Given the description of an element on the screen output the (x, y) to click on. 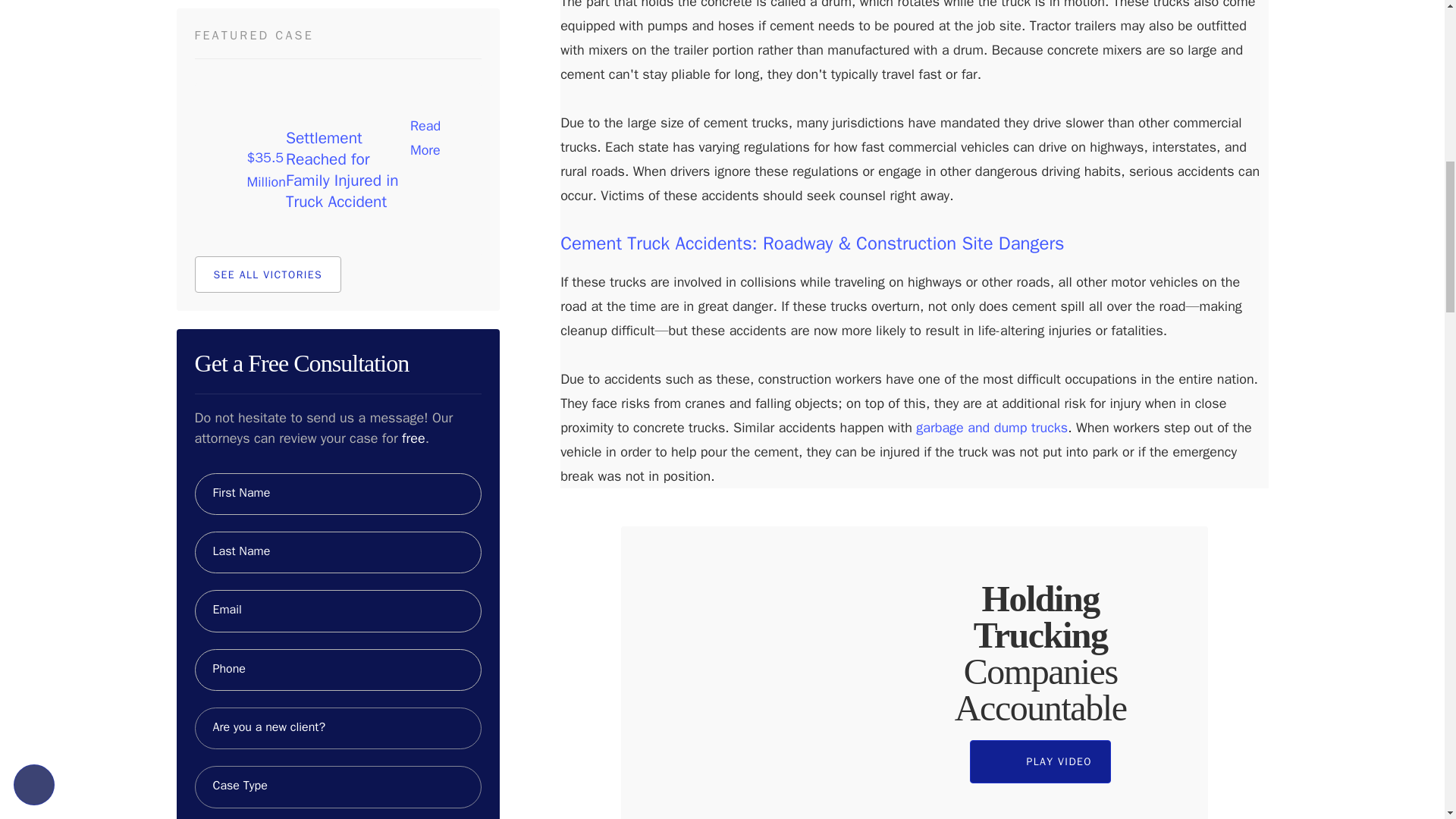
Play Video (1039, 761)
